Given the description of an element on the screen output the (x, y) to click on. 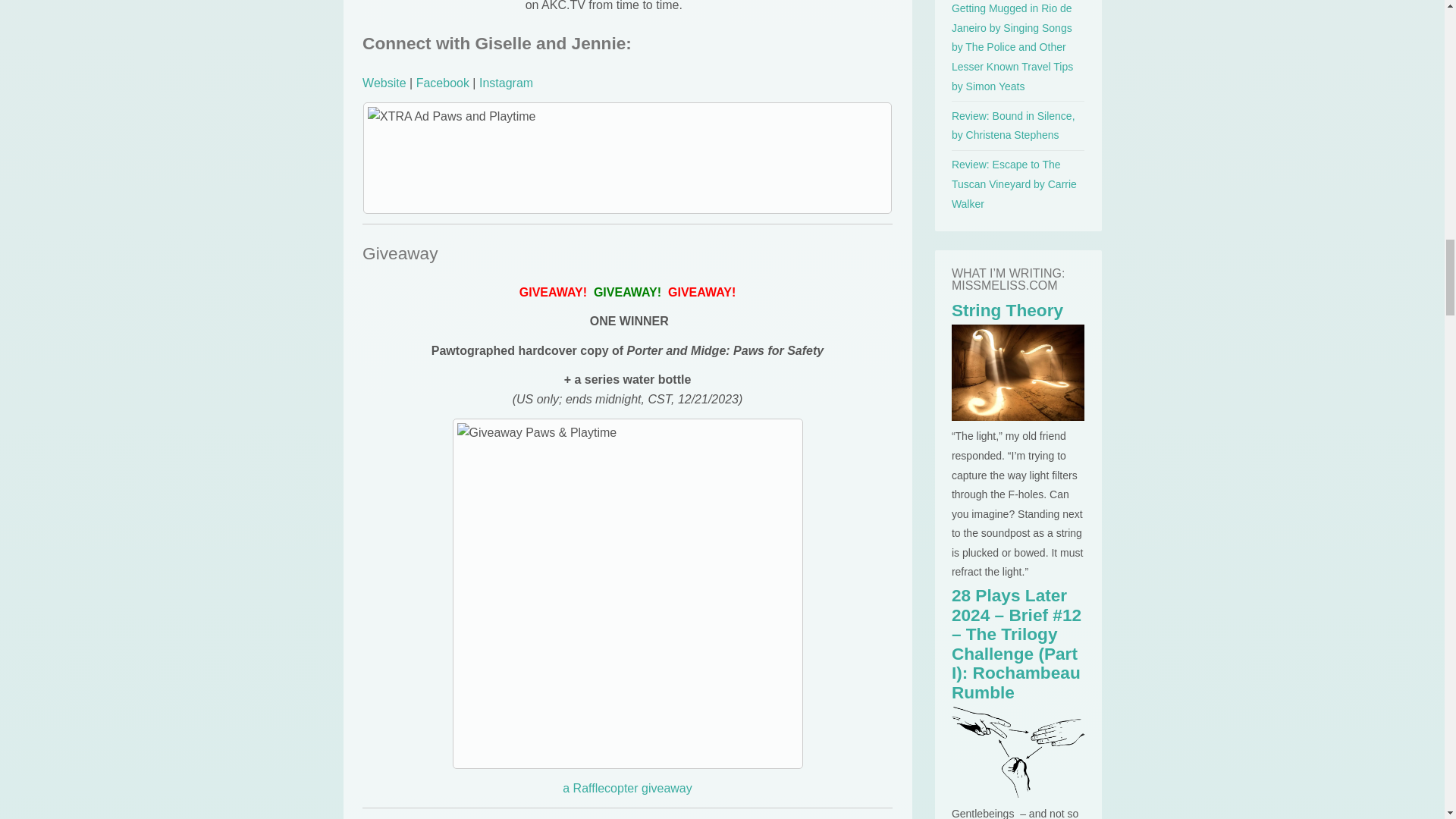
Instagram (505, 82)
a Rafflecopter giveaway (626, 788)
Facebook (442, 82)
Website (384, 82)
